Given the description of an element on the screen output the (x, y) to click on. 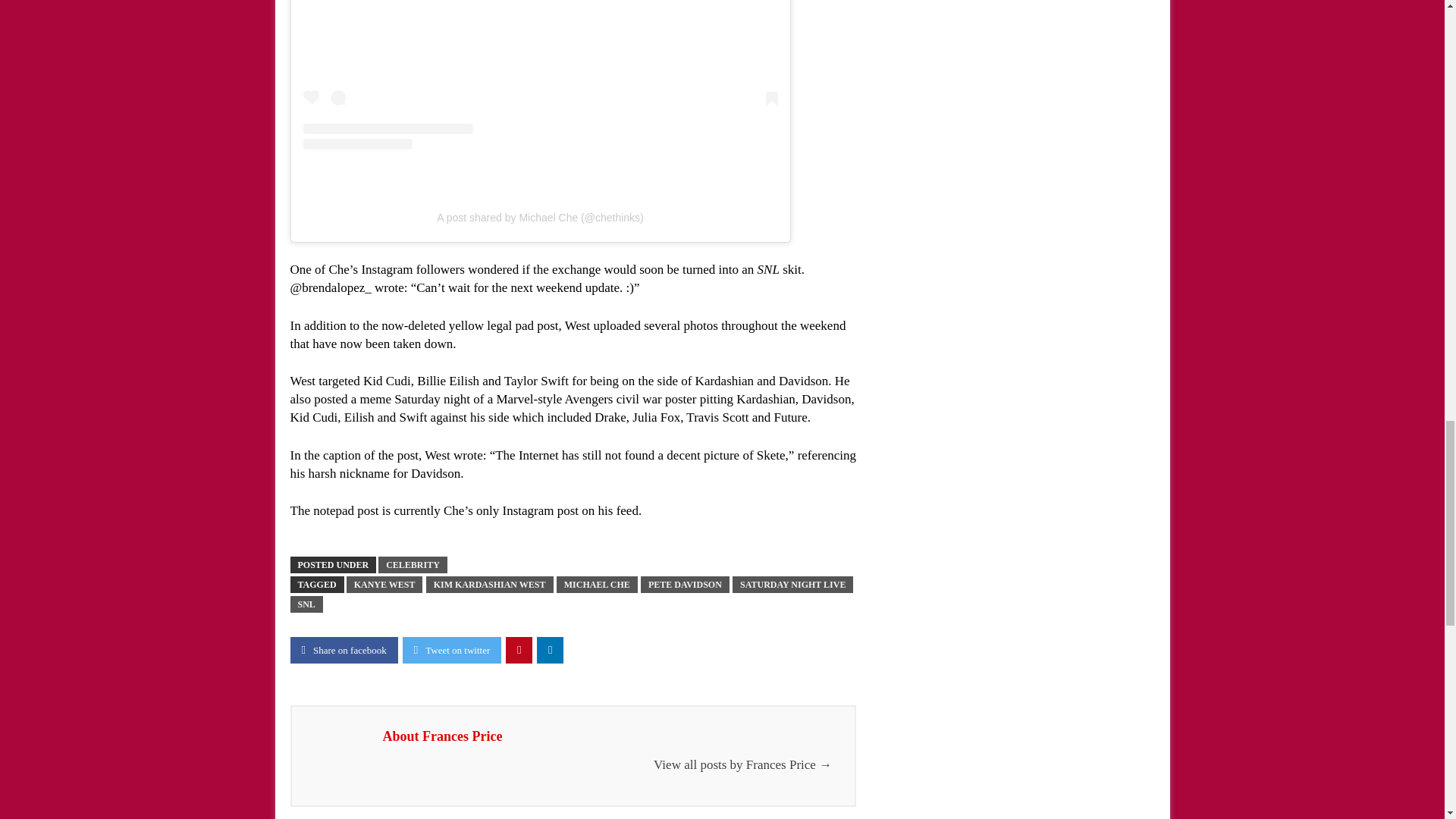
View this post on Instagram (539, 74)
SATURDAY NIGHT LIVE (792, 584)
CELEBRITY (412, 564)
PETE DAVIDSON (684, 584)
KIM KARDASHIAN WEST (489, 584)
KANYE WEST (384, 584)
Tweet on twitter (452, 650)
MICHAEL CHE (596, 584)
SNL (305, 604)
Share on facebook (343, 650)
